Given the description of an element on the screen output the (x, y) to click on. 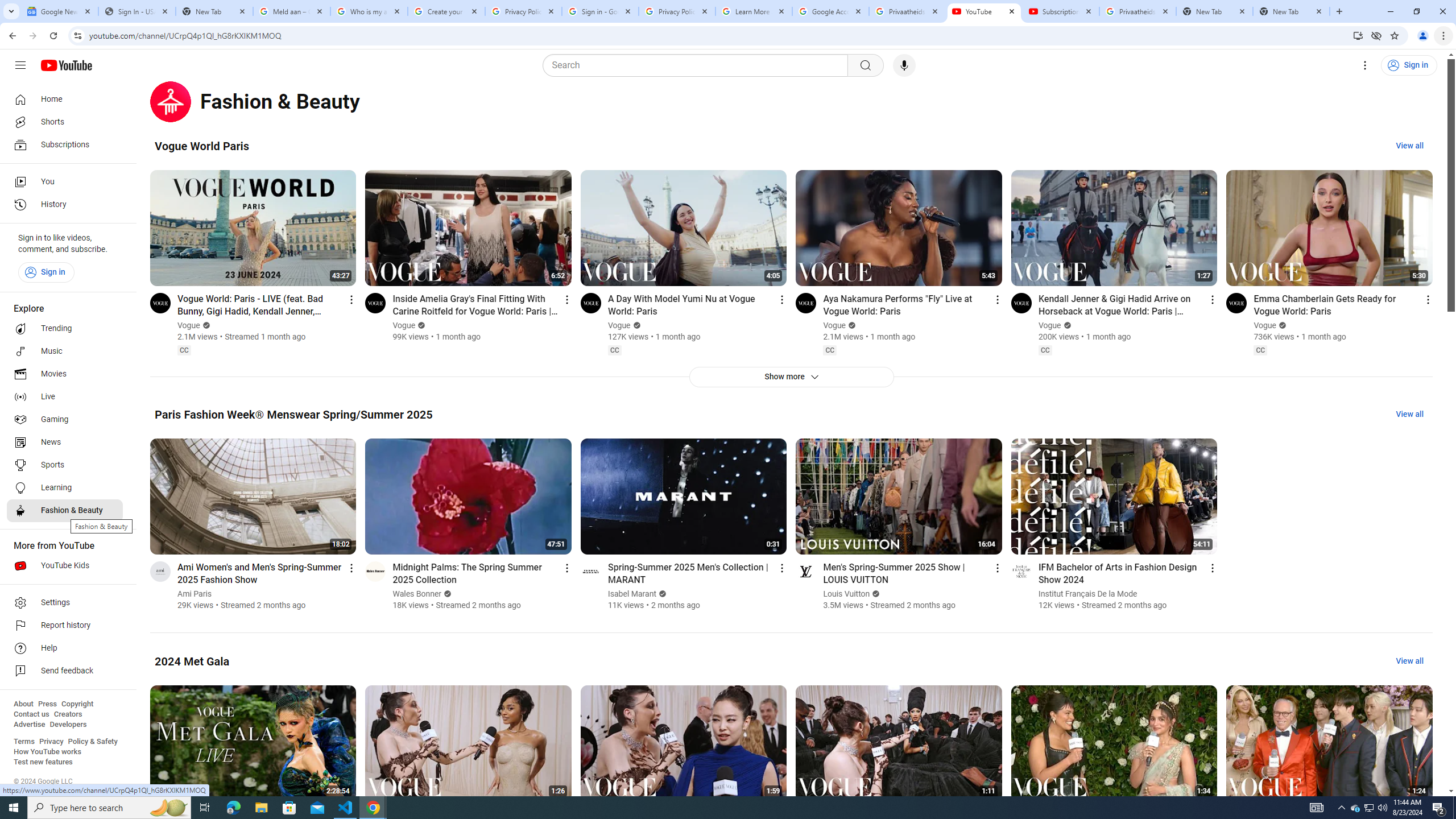
Contact us (31, 714)
Go to channel (1021, 571)
Sports (64, 464)
Send feedback (64, 671)
Developers (68, 724)
Movies (64, 373)
Vogue World Paris (201, 145)
Google Account (830, 11)
Ami Paris (194, 594)
